Given the description of an element on the screen output the (x, y) to click on. 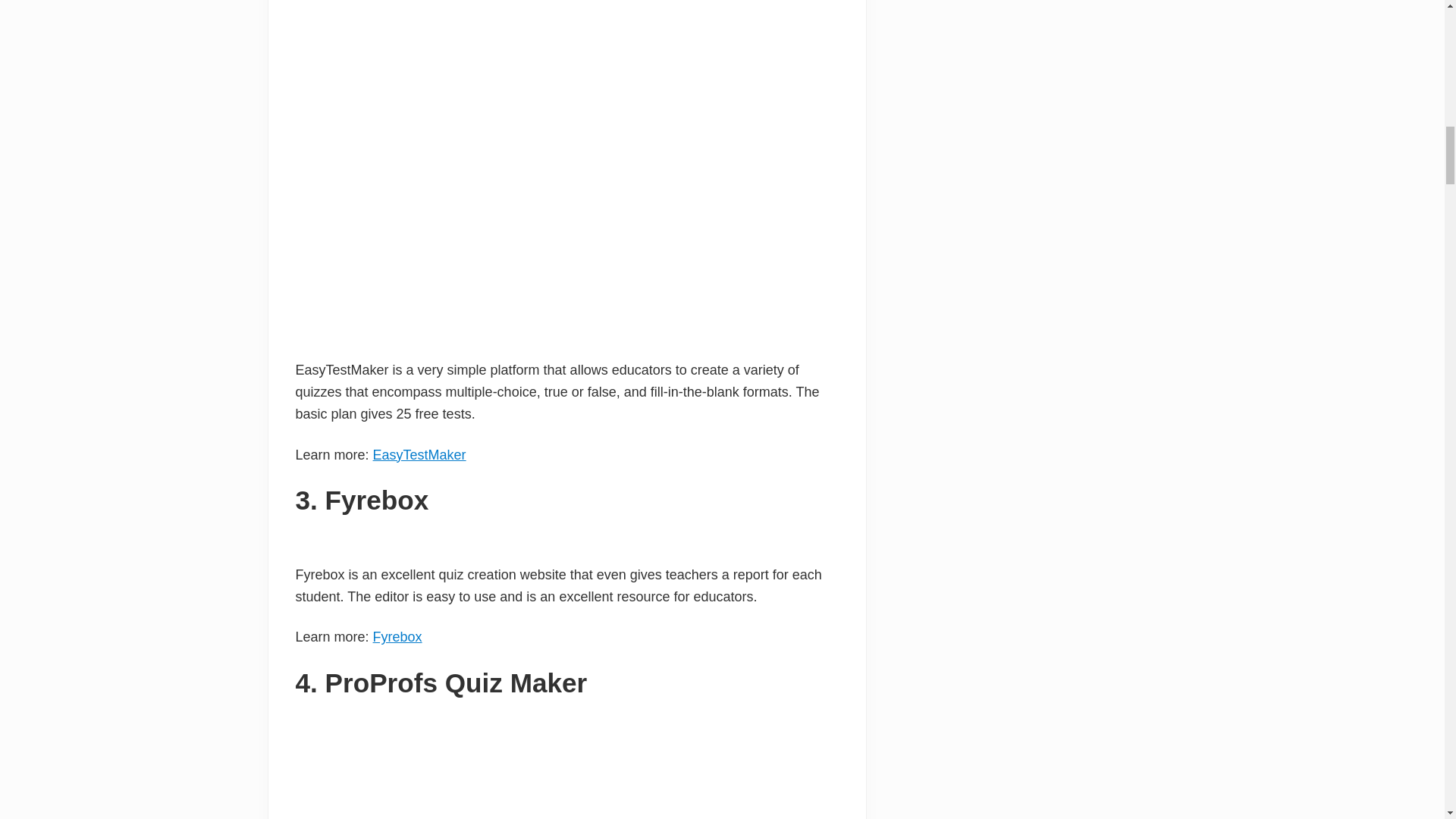
Fyrebox (397, 636)
YouTube video player (507, 763)
EasyTestMaker (418, 454)
